Given the description of an element on the screen output the (x, y) to click on. 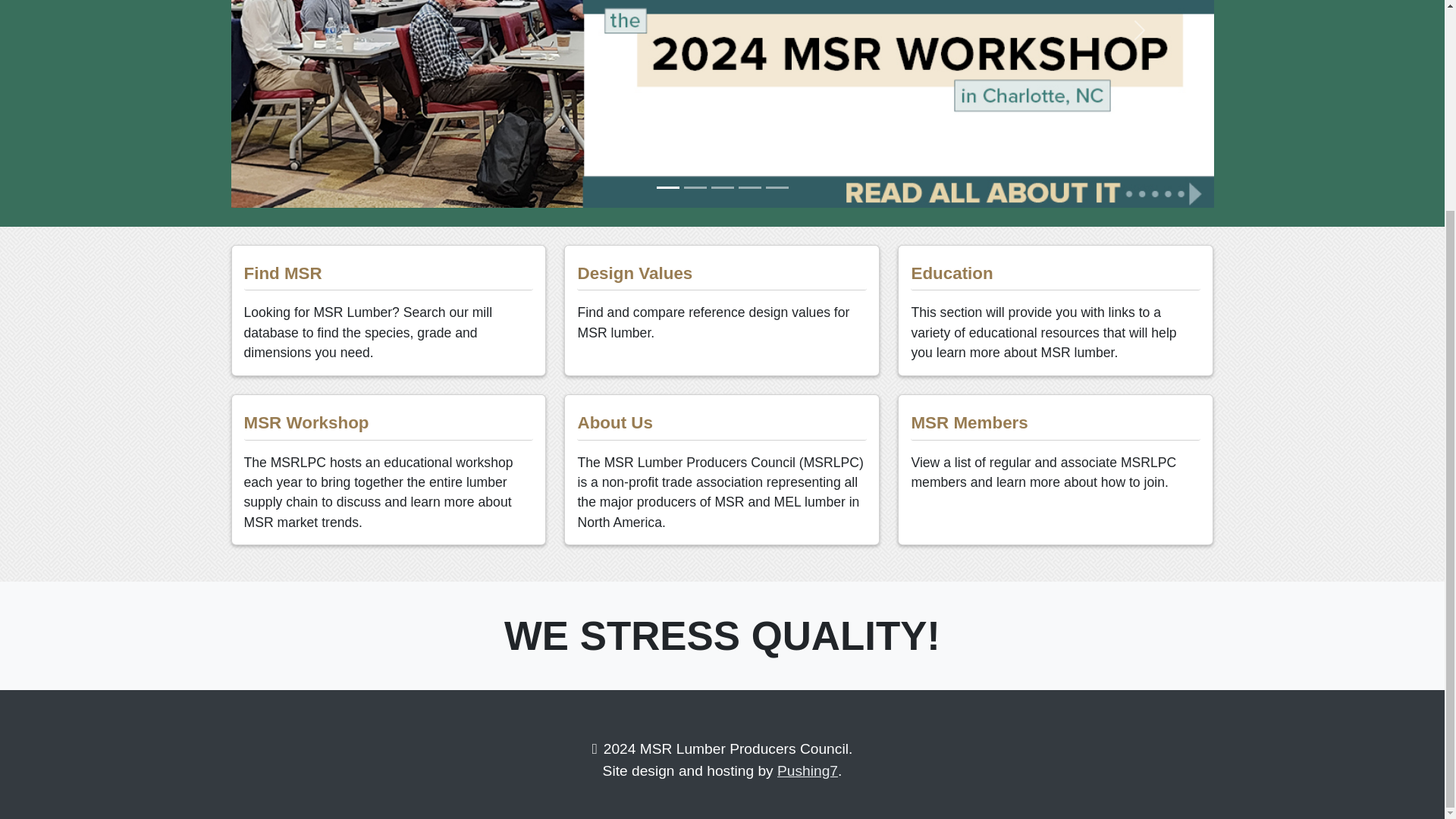
Education (1055, 268)
MSR Members (1055, 417)
Pushing7 (807, 770)
Design Values (721, 268)
MSR Workshop (388, 417)
About Us (721, 417)
Find MSR (388, 268)
